Given the description of an element on the screen output the (x, y) to click on. 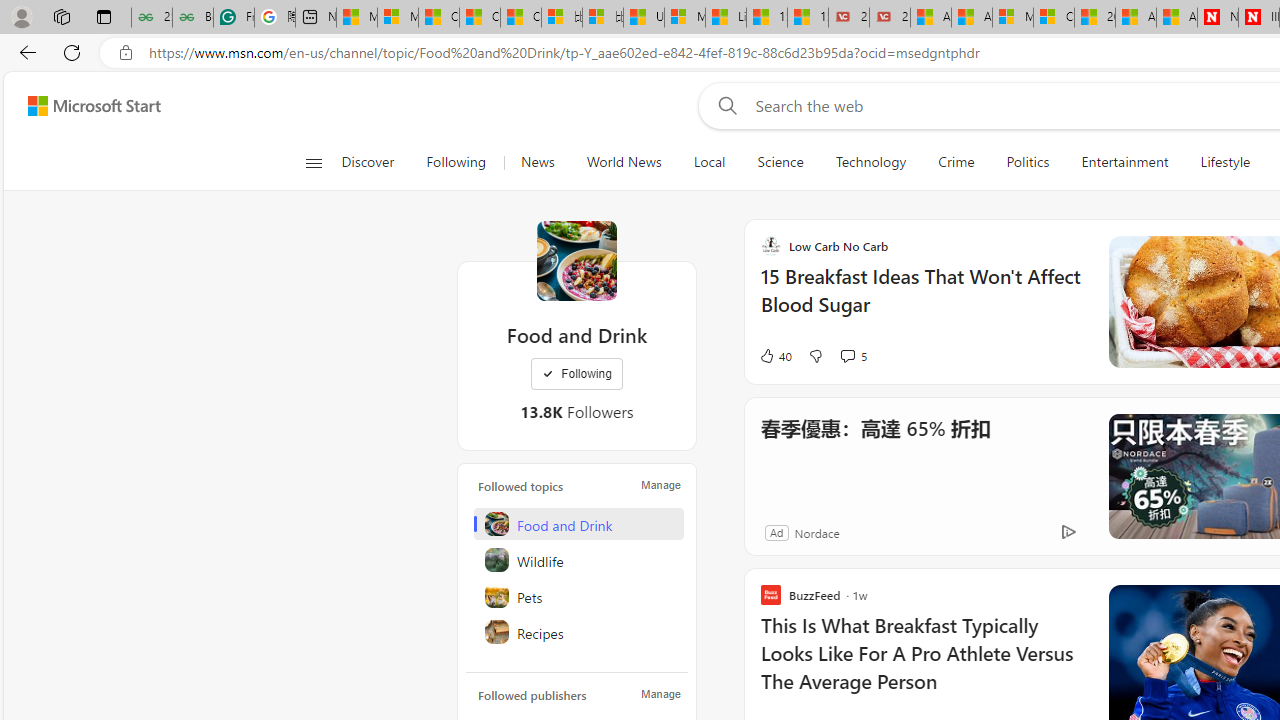
View comments 5 Comment (852, 355)
15 Breakfast Ideas That Won't Affect Blood Sugar (922, 300)
